Given the description of an element on the screen output the (x, y) to click on. 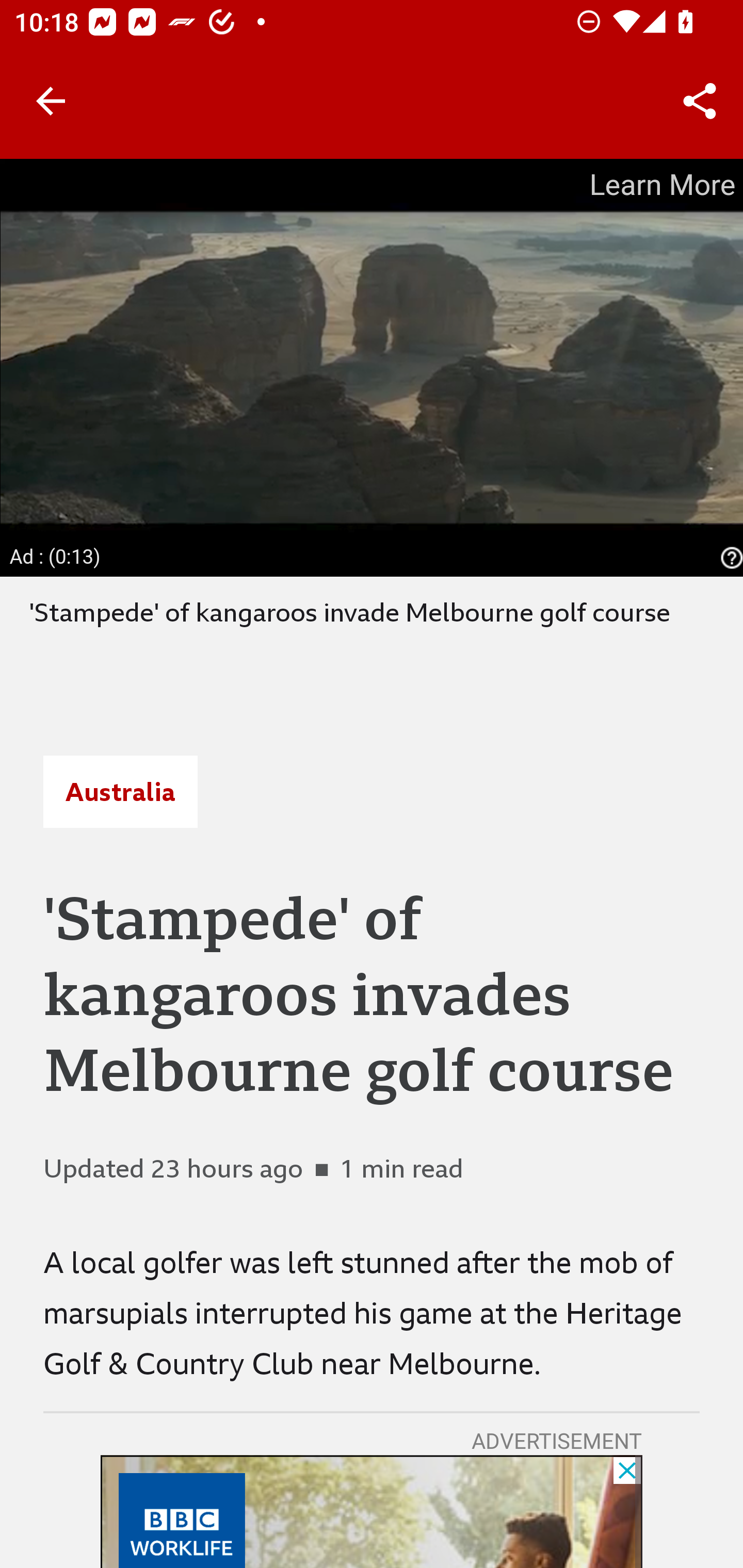
Back (50, 101)
Share (699, 101)
Learn More (660, 184)
Ad : (0:13) (55, 556)
help_outline_white_24dp_with_3px_trbl_padding (729, 557)
Australia (120, 791)
